Given the description of an element on the screen output the (x, y) to click on. 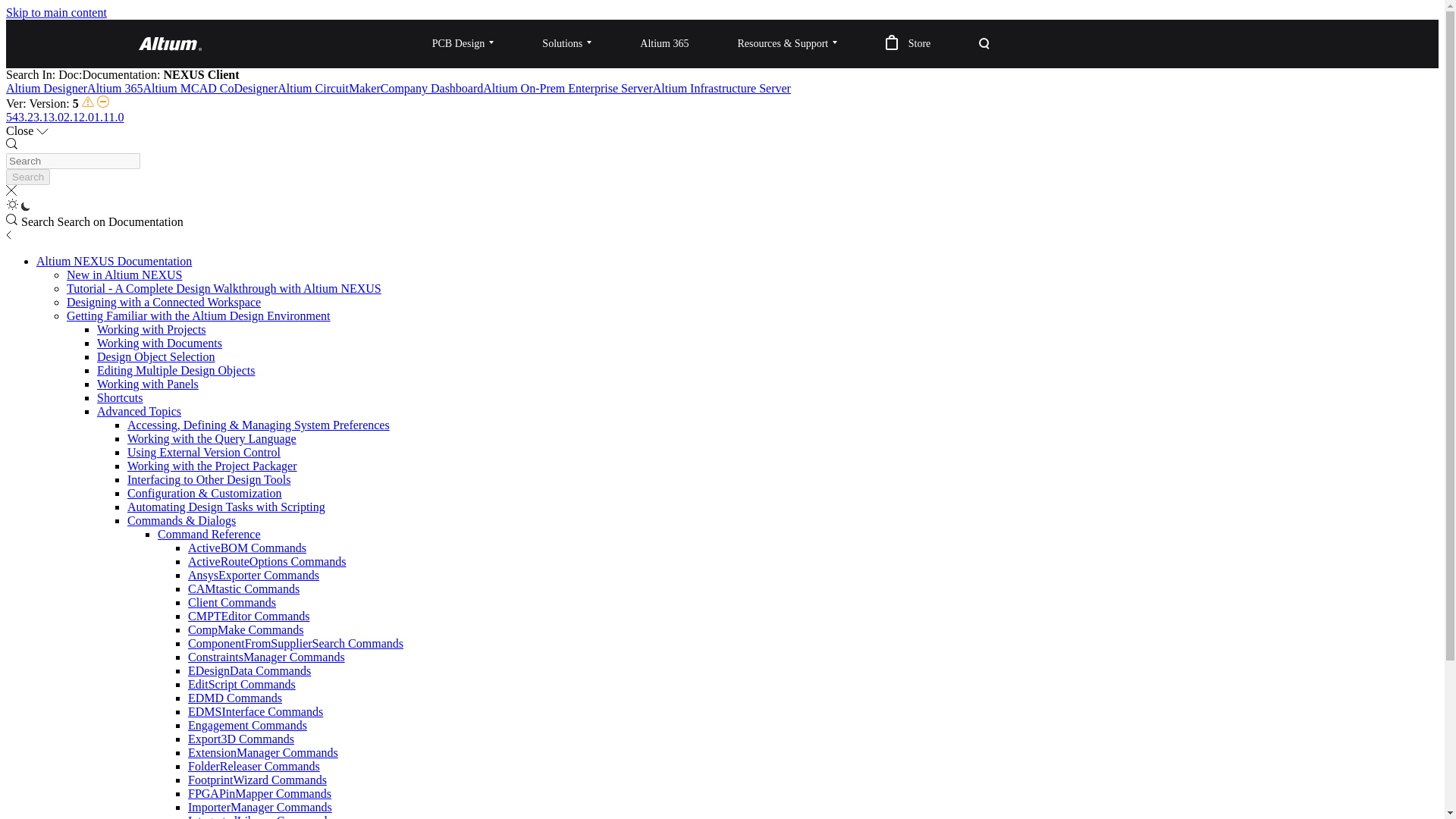
Altium CircuitMaker (329, 88)
Company Dashboard (431, 88)
Search (27, 176)
Skip to main content (55, 11)
Altium Designer (46, 88)
Altium 365 (114, 88)
Store (908, 43)
Altium 365 (664, 43)
Altium On-Prem Enterprise Server (567, 88)
PCB Design (462, 43)
